Given the description of an element on the screen output the (x, y) to click on. 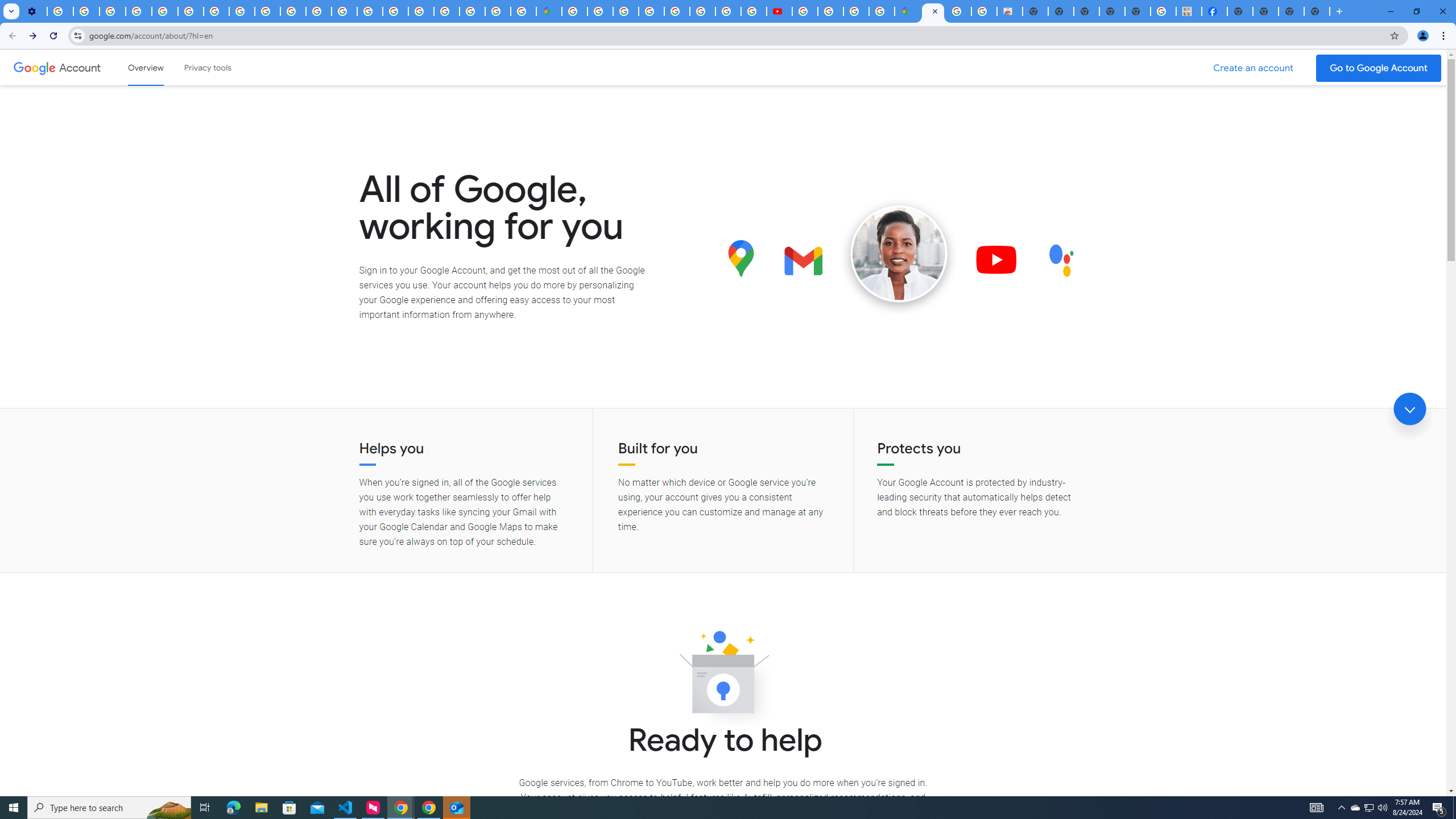
Privacy Checkup (266, 11)
Learn how to find your photos - Google Photos Help (86, 11)
Skip to Content (162, 65)
Jump link (1409, 408)
Sign in - Google Accounts (574, 11)
Terms and Conditions (676, 11)
